Given the description of an element on the screen output the (x, y) to click on. 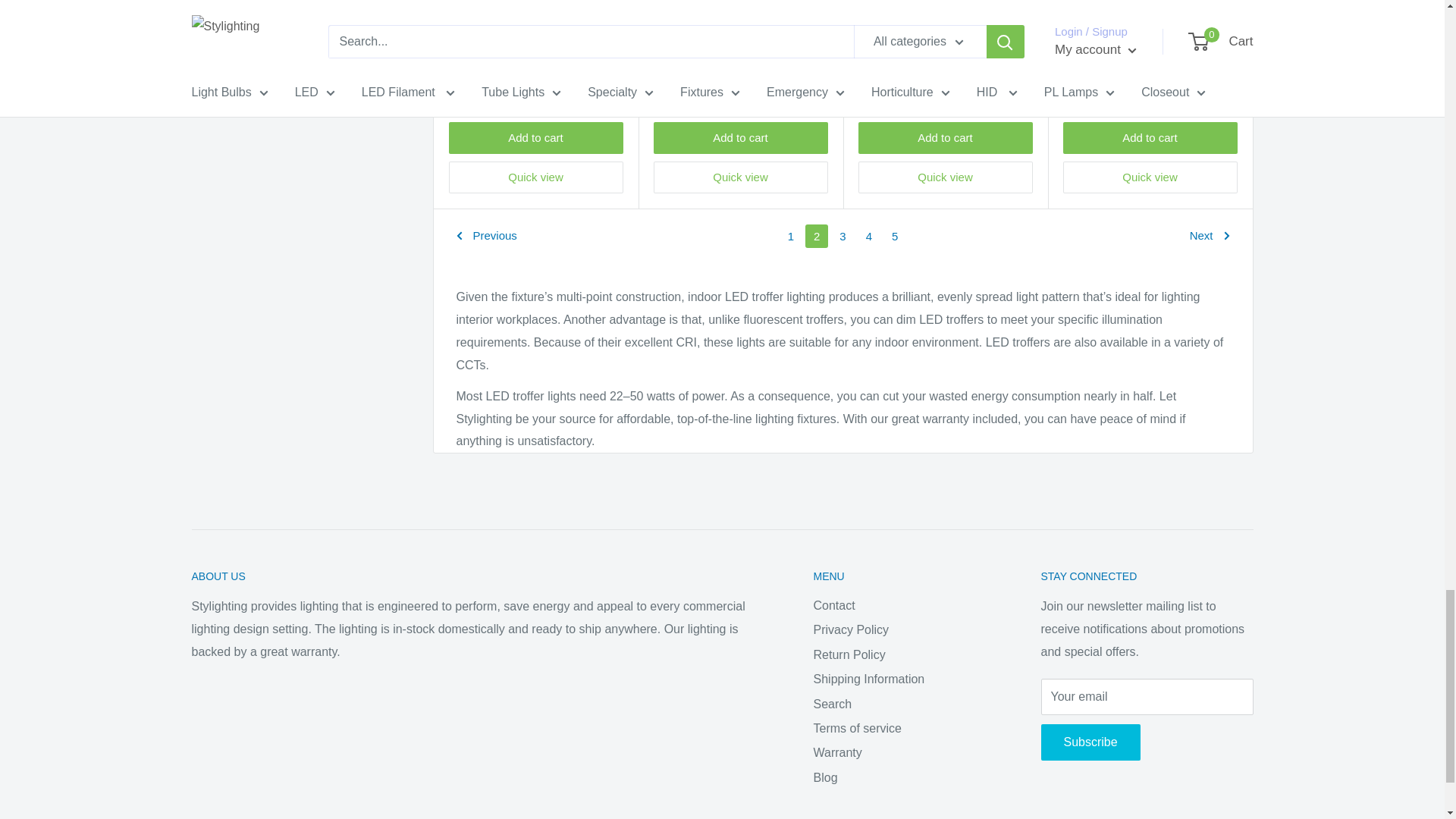
Navigate to page 1 (790, 236)
Next (1209, 236)
Navigate to page 5 (894, 236)
Navigate to page 3 (842, 236)
Navigate to page 4 (868, 236)
Previous (486, 236)
